Given the description of an element on the screen output the (x, y) to click on. 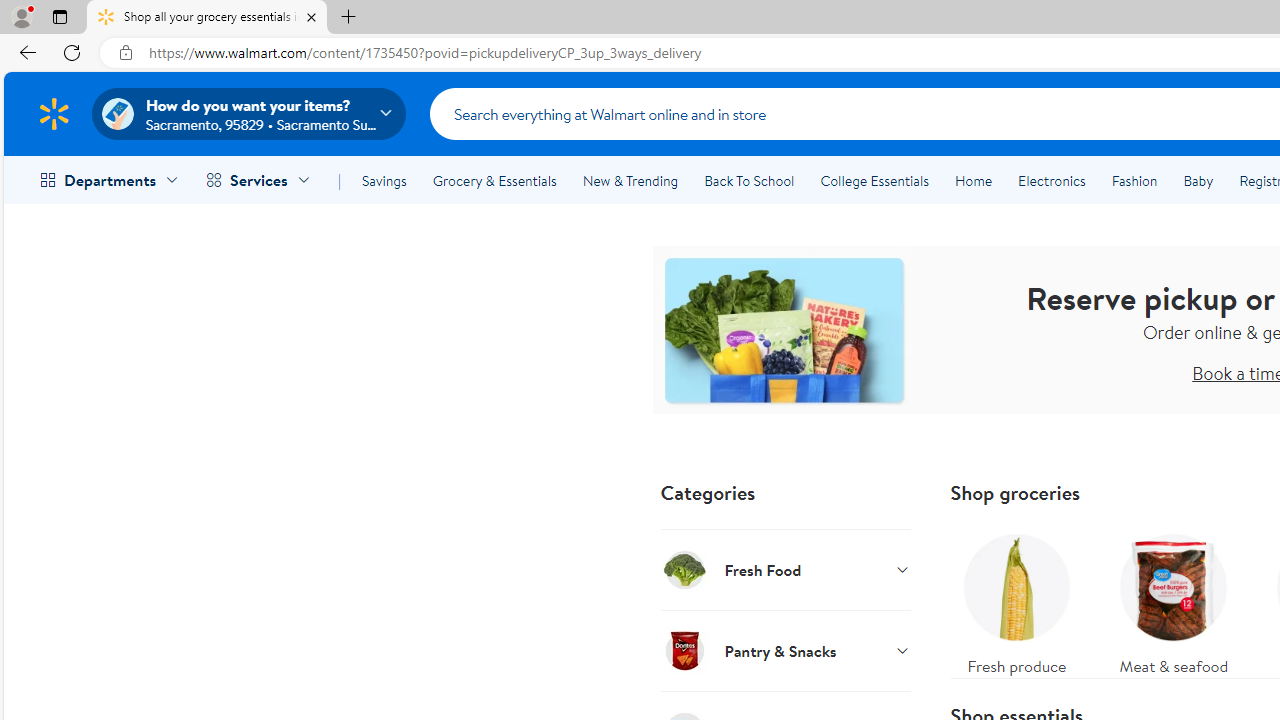
Savings (384, 180)
Fashion (1134, 180)
Back To School (749, 180)
College Essentials (874, 180)
College Essentials (874, 180)
Shop all your grocery essentials in one place! - Walmart.com (207, 17)
Meat & seafood (1173, 599)
Back To School (749, 180)
